Given the description of an element on the screen output the (x, y) to click on. 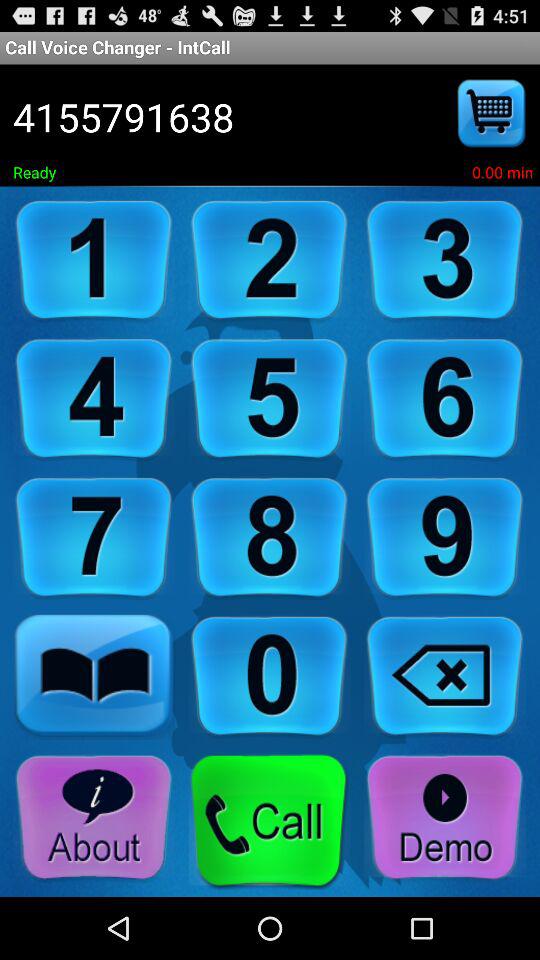
go to number (269, 676)
